Given the description of an element on the screen output the (x, y) to click on. 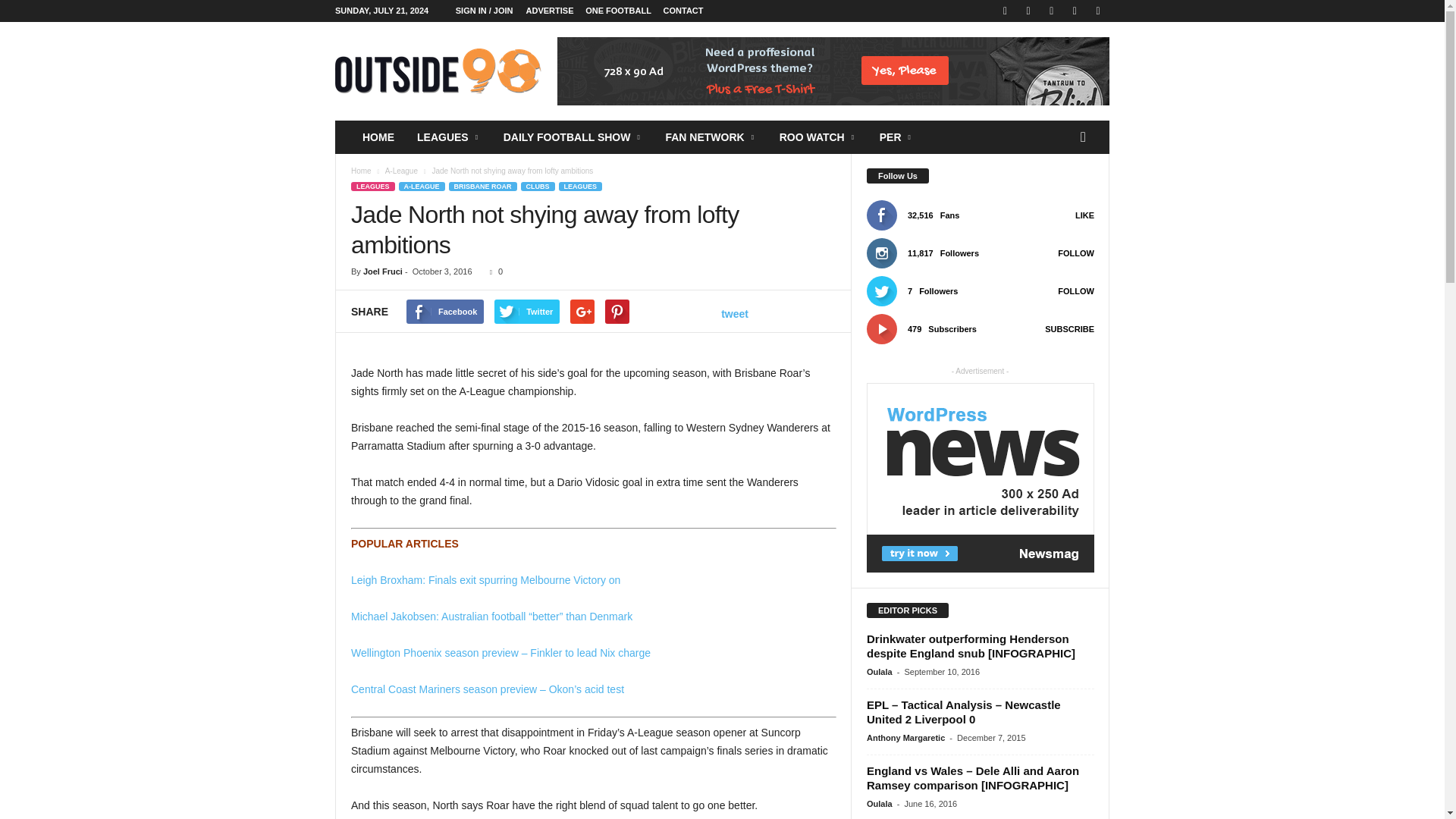
ONE FOOTBALL (617, 10)
ADVERTISE (549, 10)
Outside90 (437, 70)
CONTACT (683, 10)
